Given the description of an element on the screen output the (x, y) to click on. 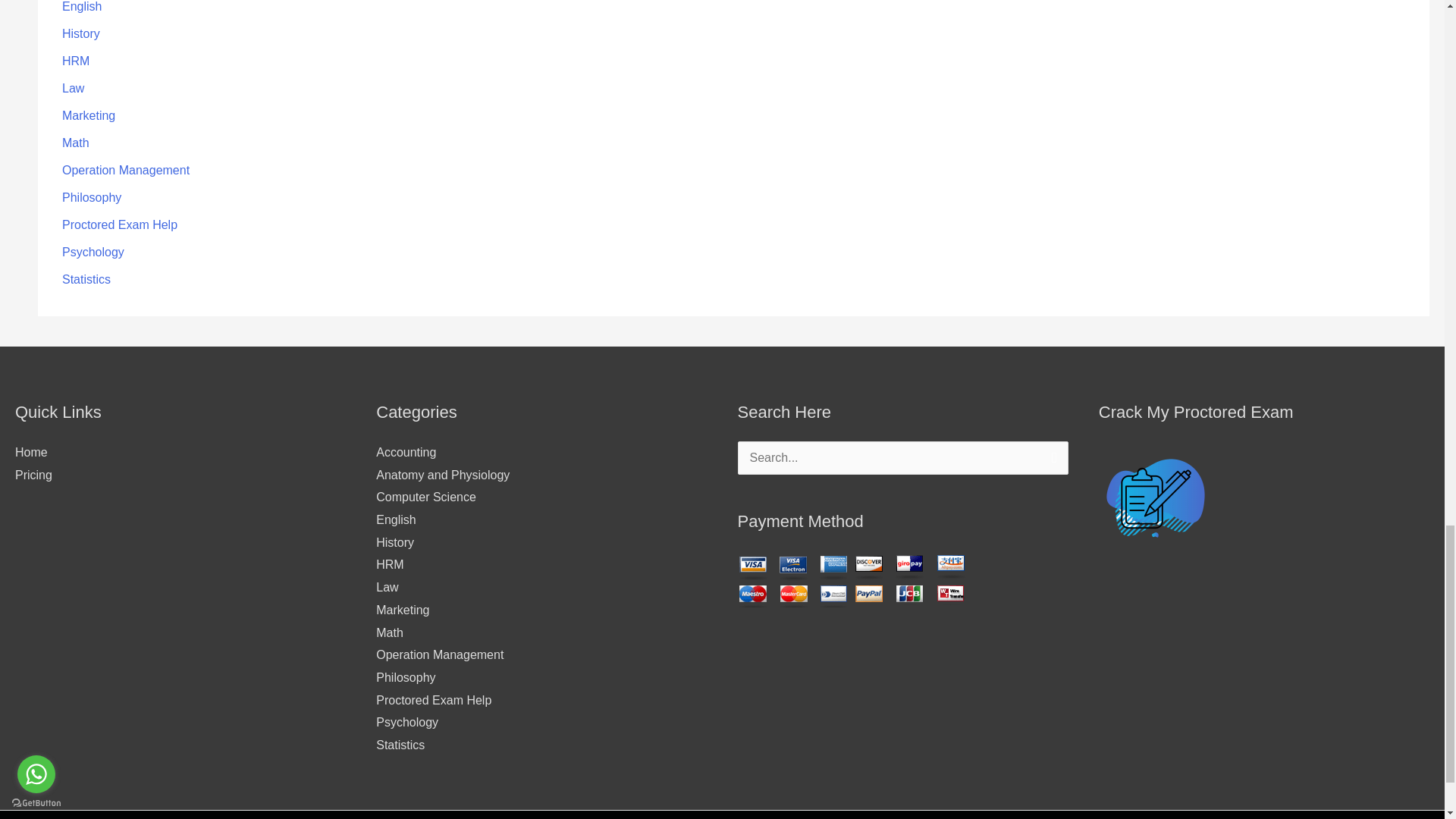
Law (73, 88)
Statistics (86, 278)
Psychology (92, 251)
Proctored Exam Help (119, 224)
Philosophy (91, 196)
Math (75, 142)
Marketing (88, 115)
English (81, 6)
History (81, 33)
Operation Management (125, 169)
HRM (75, 60)
